Given the description of an element on the screen output the (x, y) to click on. 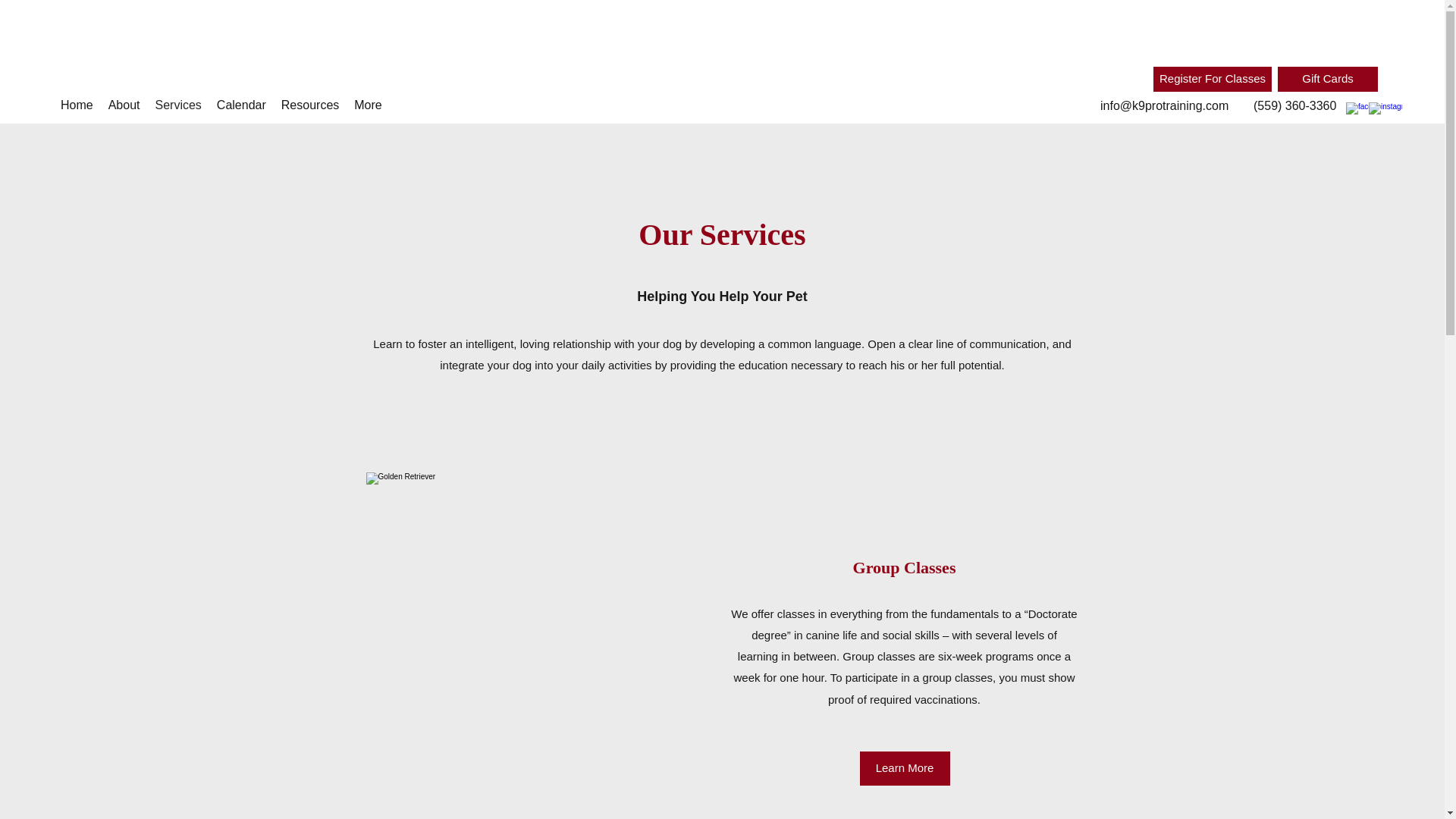
Calendar (241, 106)
Register For Classes (1212, 78)
Services (177, 106)
Resources (309, 106)
Learn More (905, 768)
Gift Cards (1327, 78)
About (124, 106)
Home (76, 106)
